Given the description of an element on the screen output the (x, y) to click on. 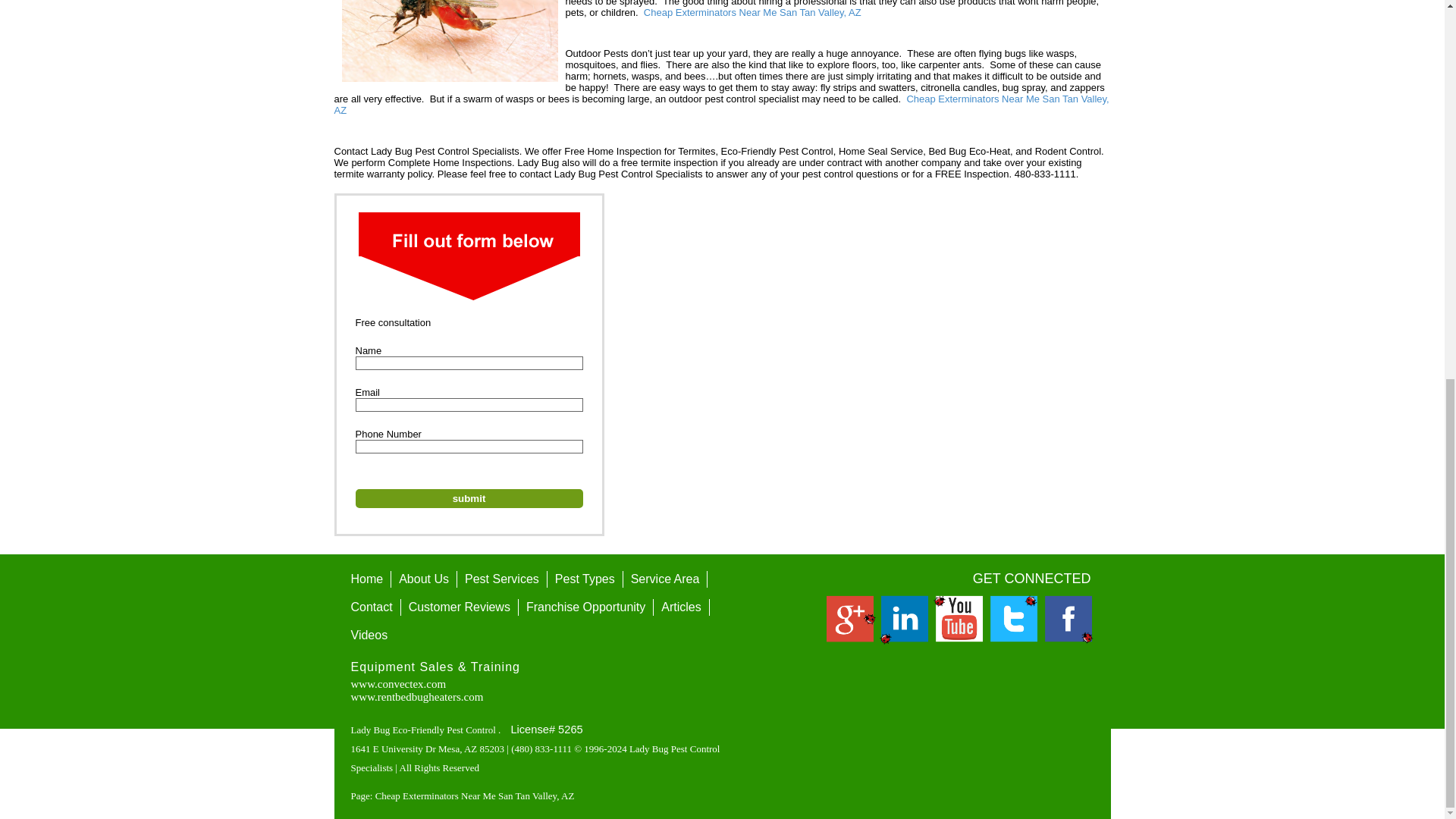
Videos (368, 635)
www.rentbedbugheaters.com (416, 696)
Cheap Exterminators Near Me San Tan Valley, AZ (752, 12)
About Us (424, 579)
Pest Types (585, 579)
Pest Services (502, 579)
Articles (680, 606)
Franchise Opportunity (585, 606)
submit (468, 497)
submit (468, 497)
